Given the description of an element on the screen output the (x, y) to click on. 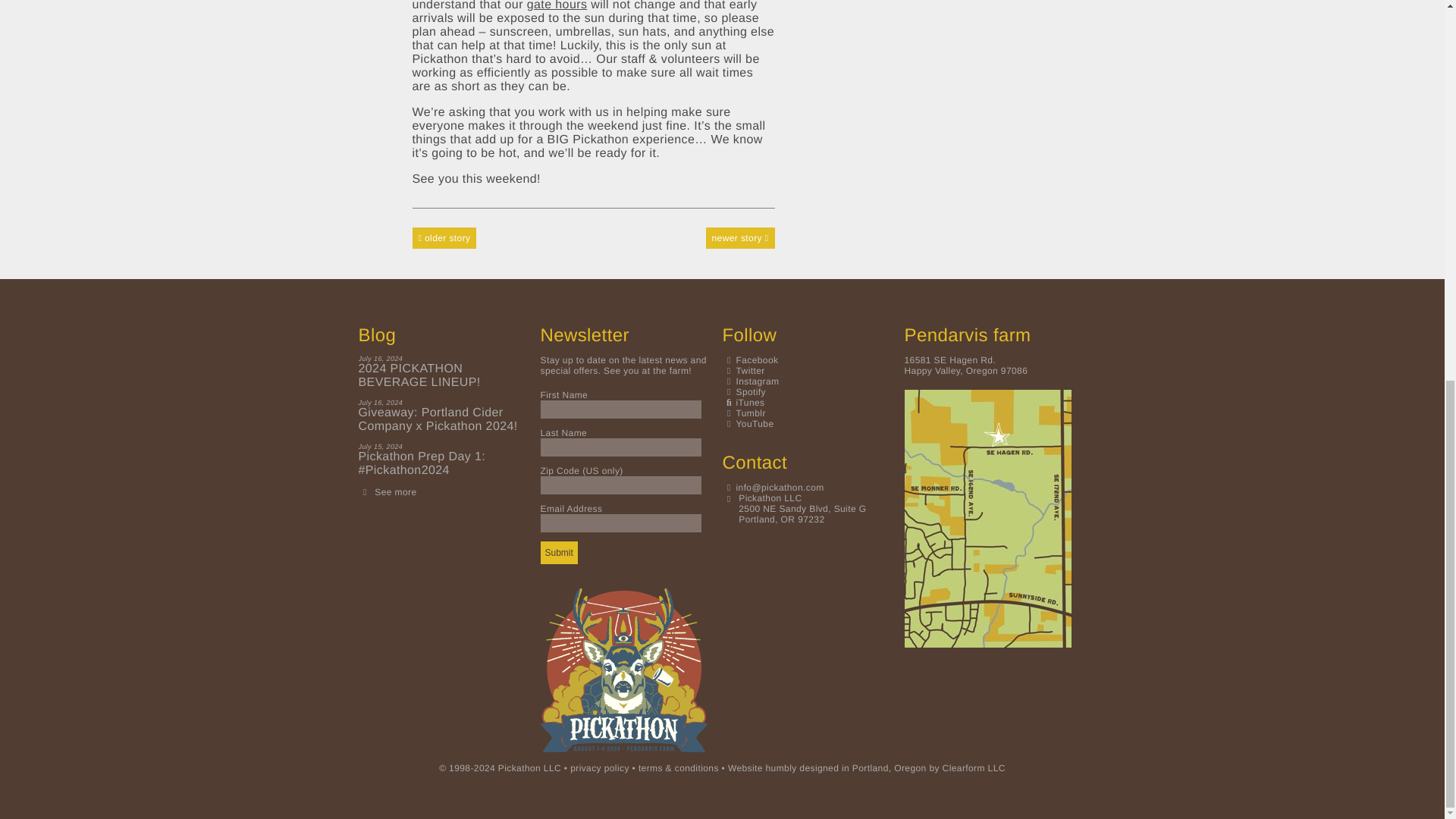
See more (395, 491)
Spotify (743, 391)
gate hours (557, 5)
Submit (558, 552)
YouTube (747, 423)
privacy policy (599, 767)
Giveaway: Portland Cider Company x Pickathon 2024! (441, 420)
Tumblr (743, 412)
iTunes (743, 402)
newer story (740, 230)
older story (444, 230)
Clearform LLC (974, 767)
Instagram (750, 380)
2024 PICKATHON BEVERAGE LINEUP! (441, 375)
Submit (558, 552)
